Given the description of an element on the screen output the (x, y) to click on. 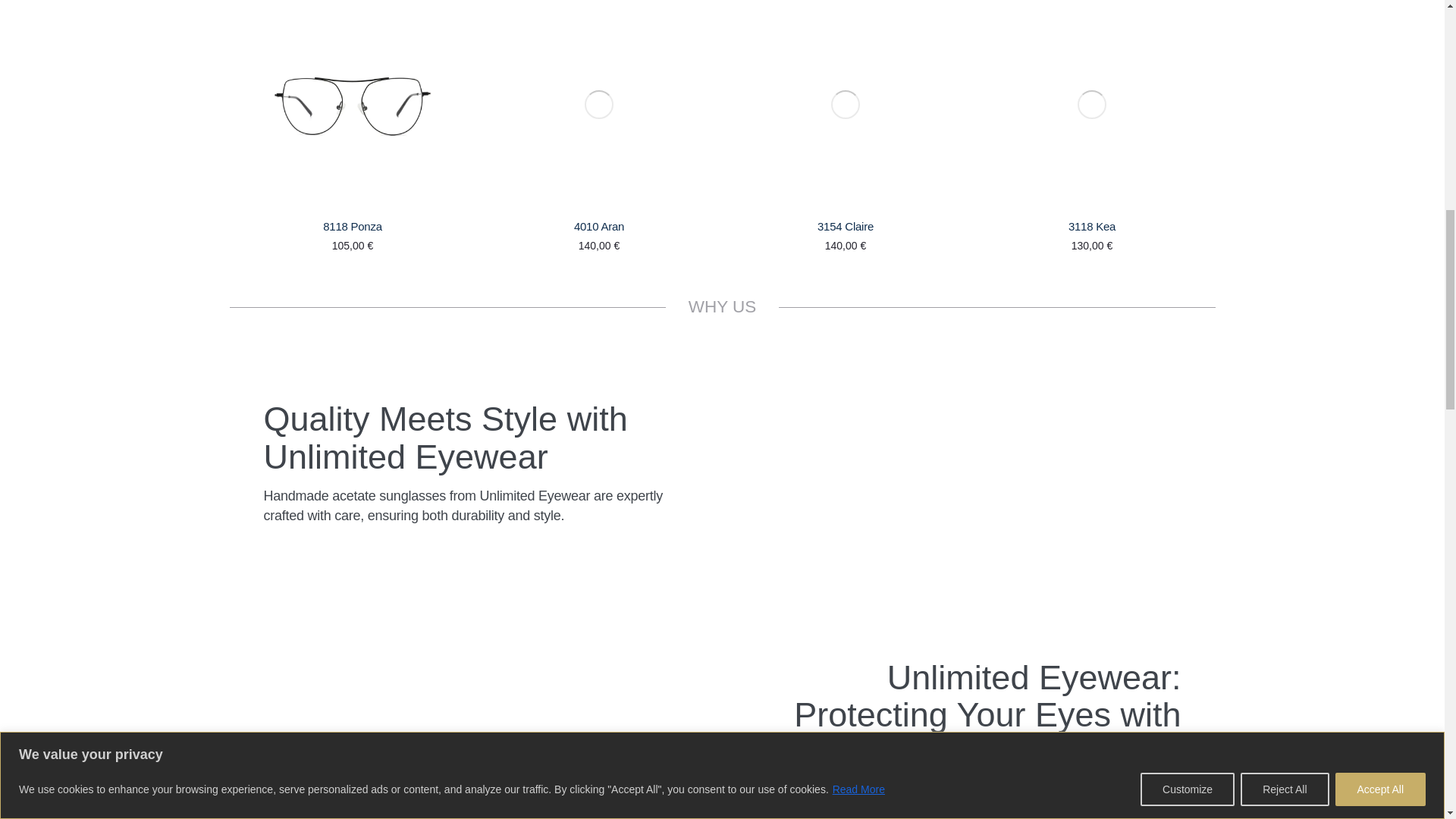
4010 Aran (598, 226)
3118 Kea (1091, 226)
8118 Ponza (352, 226)
8118 Ponza (352, 226)
3154 Claire (844, 226)
